Given the description of an element on the screen output the (x, y) to click on. 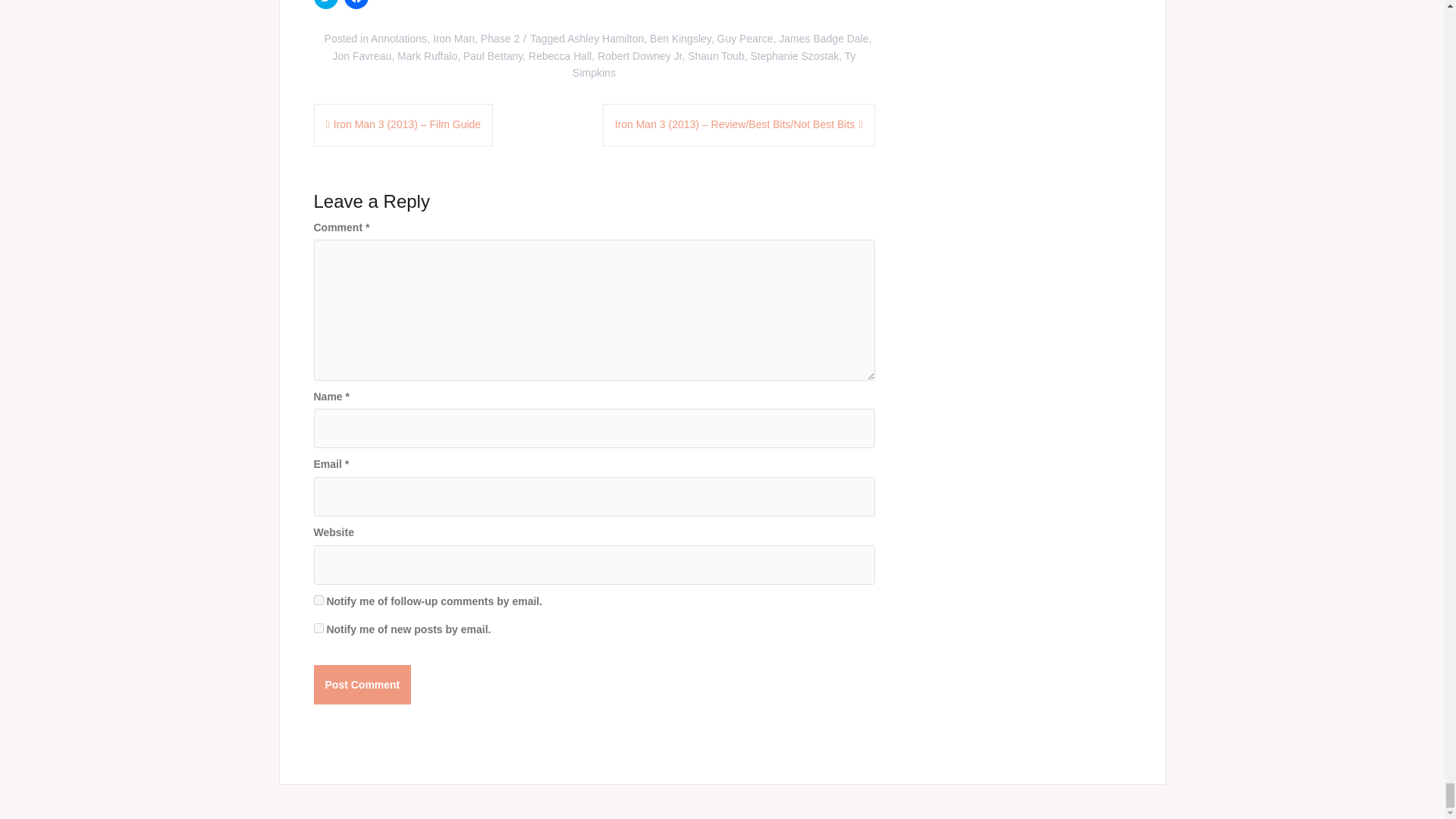
Post Comment (363, 684)
subscribe (318, 628)
Click to share on Twitter (325, 4)
subscribe (318, 600)
Click to share on Facebook (355, 4)
